Given the description of an element on the screen output the (x, y) to click on. 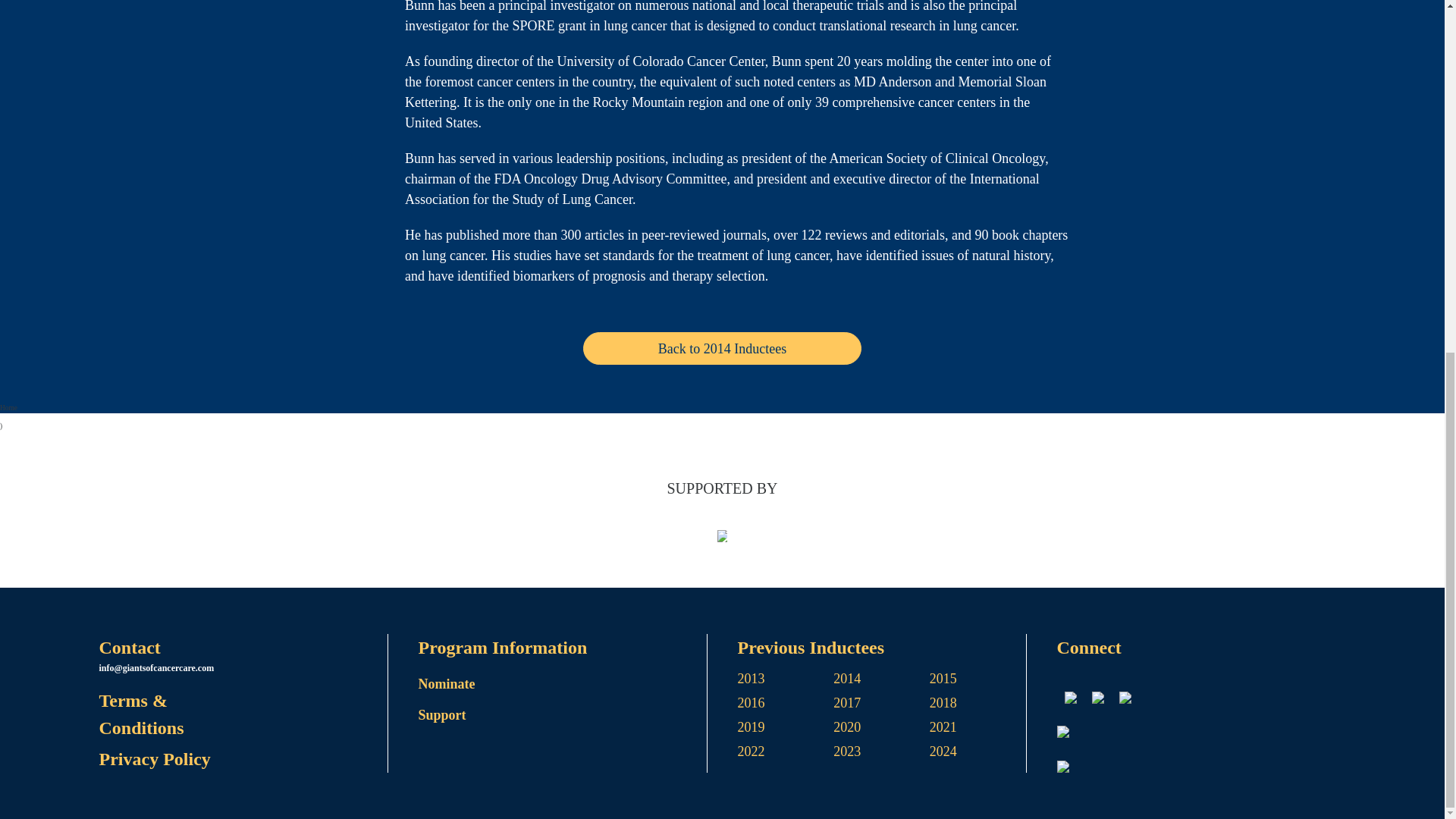
2024 (978, 753)
2016 (784, 704)
2023 (881, 753)
2019 (784, 729)
2018 (978, 704)
Nominate (562, 684)
2020 (881, 729)
Privacy Policy (243, 759)
Back to 2014 Inductees (722, 348)
2013 (784, 680)
2021 (978, 729)
2017 (881, 704)
2022 (784, 753)
2014 (881, 680)
Support (562, 715)
